Given the description of an element on the screen output the (x, y) to click on. 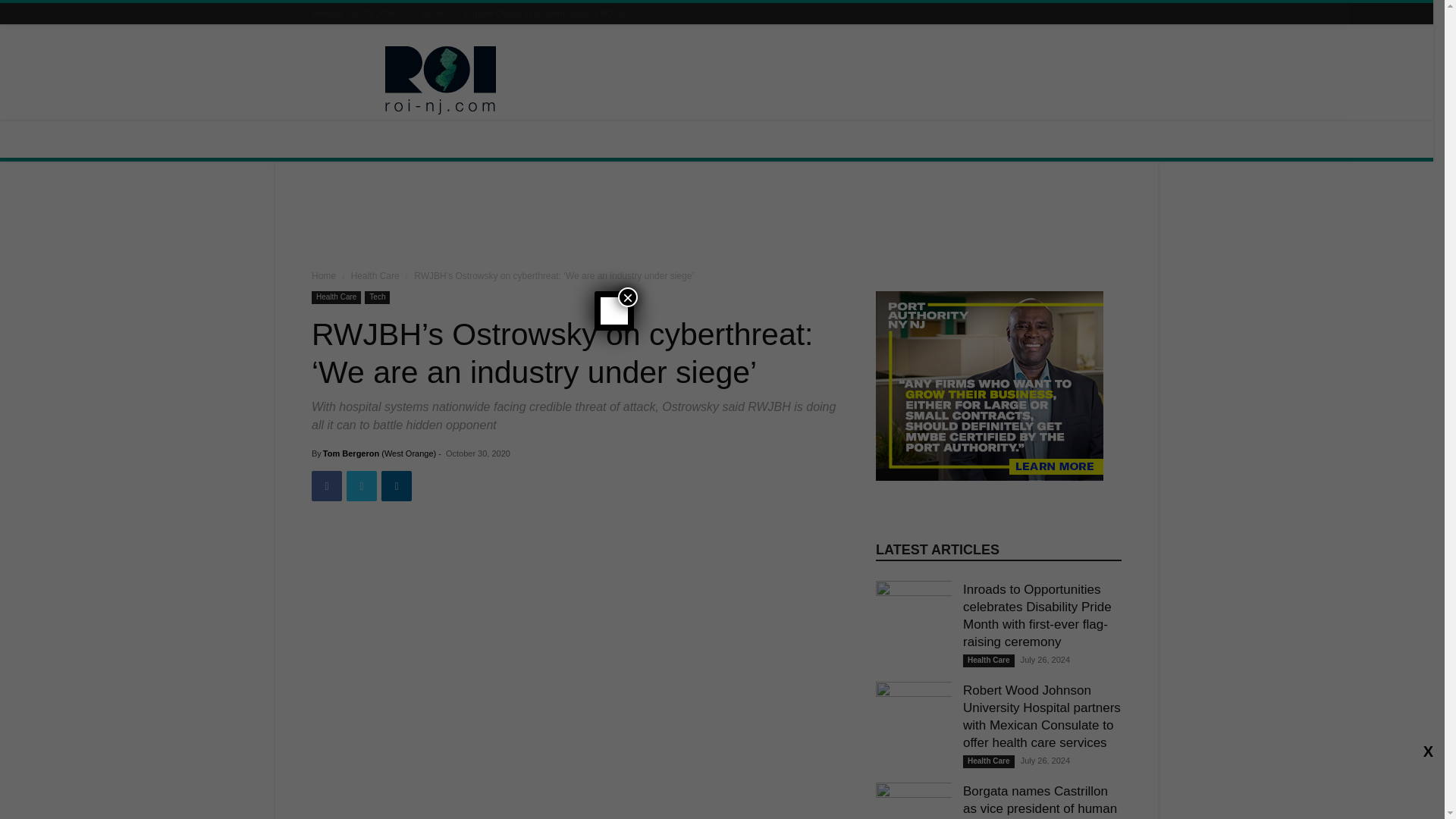
3rd party ad content (845, 79)
View all posts in Health Care (374, 276)
Linkedin (396, 485)
3rd party ad content (716, 218)
Facebook (326, 485)
Twitter (361, 485)
